Given the description of an element on the screen output the (x, y) to click on. 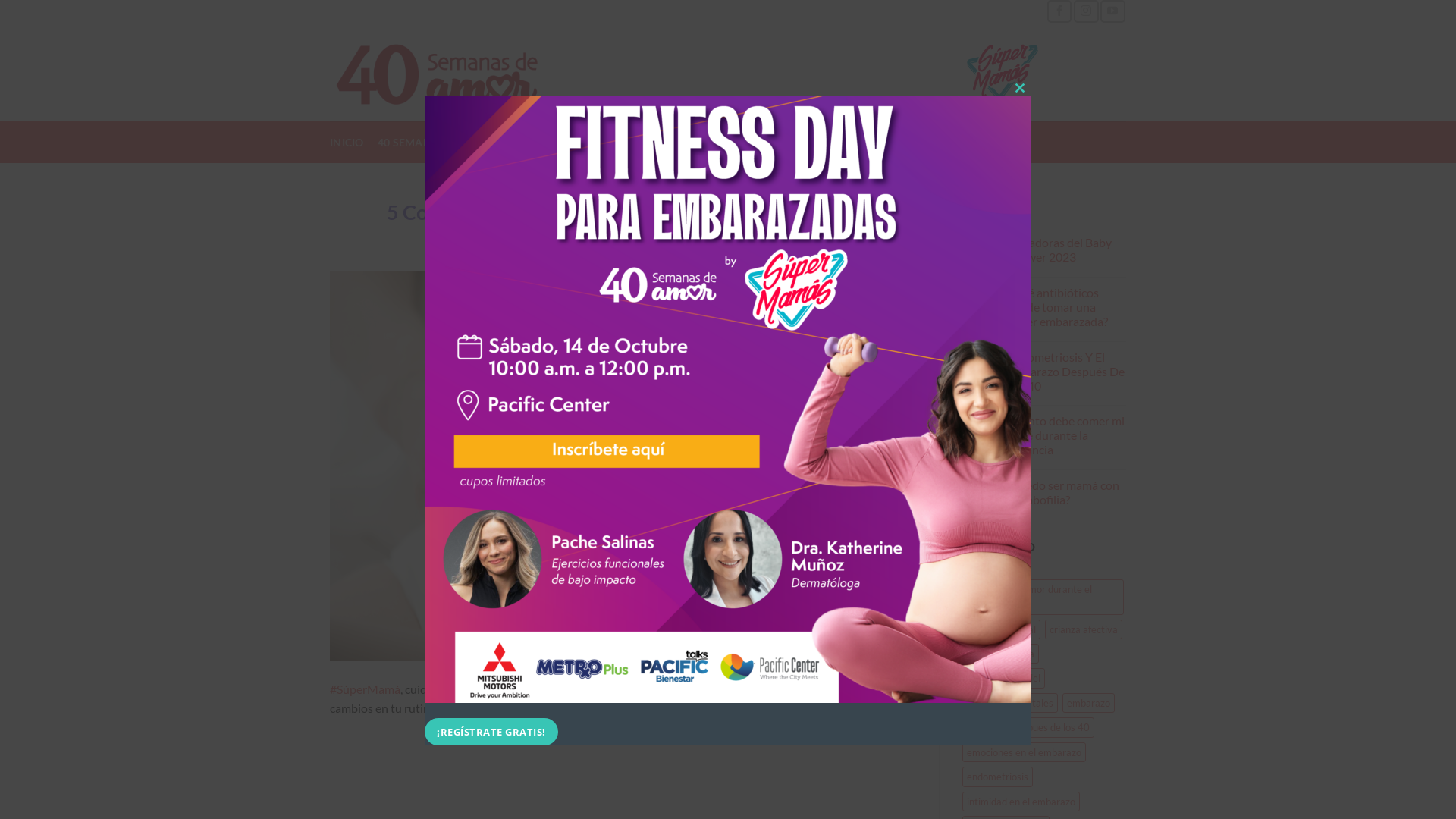
intimidad en el embarazo Element type: text (1020, 801)
crianza afectiva Element type: text (1083, 628)
BLOG Element type: text (473, 142)
cuidados prenatales Element type: text (1009, 702)
40 Semanas de Amor Element type: hover (472, 71)
Ganadoras del Baby Shower 2023 Element type: text (1066, 249)
crianza positiva Element type: text (999, 653)
endometriosis Element type: text (996, 776)
emociones en el embarazo Element type: text (1023, 752)
embarazo despues de los 40 Element type: text (1027, 727)
INICIO Element type: text (346, 142)
CUIDANDO TU PANCITA Element type: text (622, 189)
control prenatal Element type: text (1000, 628)
CUIDANDO TU PANCITA Element type: text (707, 142)
CLOSE THIS MODULE Element type: text (1019, 88)
embarazo Element type: text (1087, 702)
cuidado de la piel Element type: text (1002, 677)
BABY SHOWER Element type: text (822, 142)
cambios de humor durante el embarazo Element type: text (1042, 597)
40 SEMANAS Element type: text (411, 142)
